Given the description of an element on the screen output the (x, y) to click on. 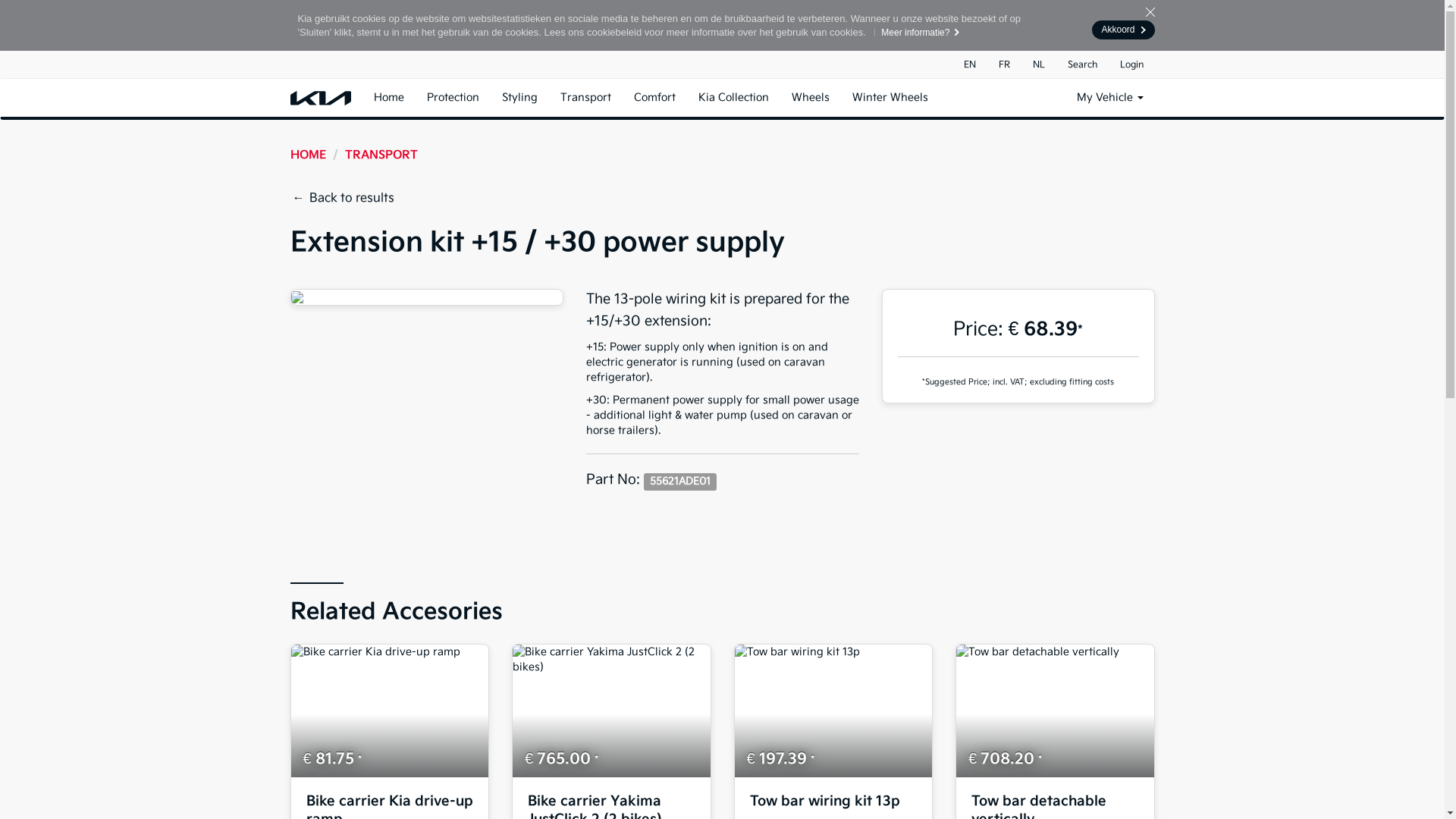
FR Element type: text (1004, 64)
Search Element type: text (1081, 64)
Winter Wheels Element type: text (889, 97)
Meer informatie? Element type: text (913, 32)
Styling Element type: text (518, 97)
Protection Element type: text (452, 97)
My Vehicle Element type: text (1109, 97)
Akkoord Element type: text (1123, 29)
HOME Element type: text (307, 154)
Home Element type: text (388, 97)
EN Element type: text (969, 64)
Comfort Element type: text (653, 97)
Kia Collection Element type: text (733, 97)
Wheels Element type: text (809, 97)
TRANSPORT Element type: text (380, 154)
Transport Element type: text (585, 97)
Back to results Element type: text (346, 198)
Login Element type: text (1131, 64)
NL Element type: text (1037, 64)
